Given the description of an element on the screen output the (x, y) to click on. 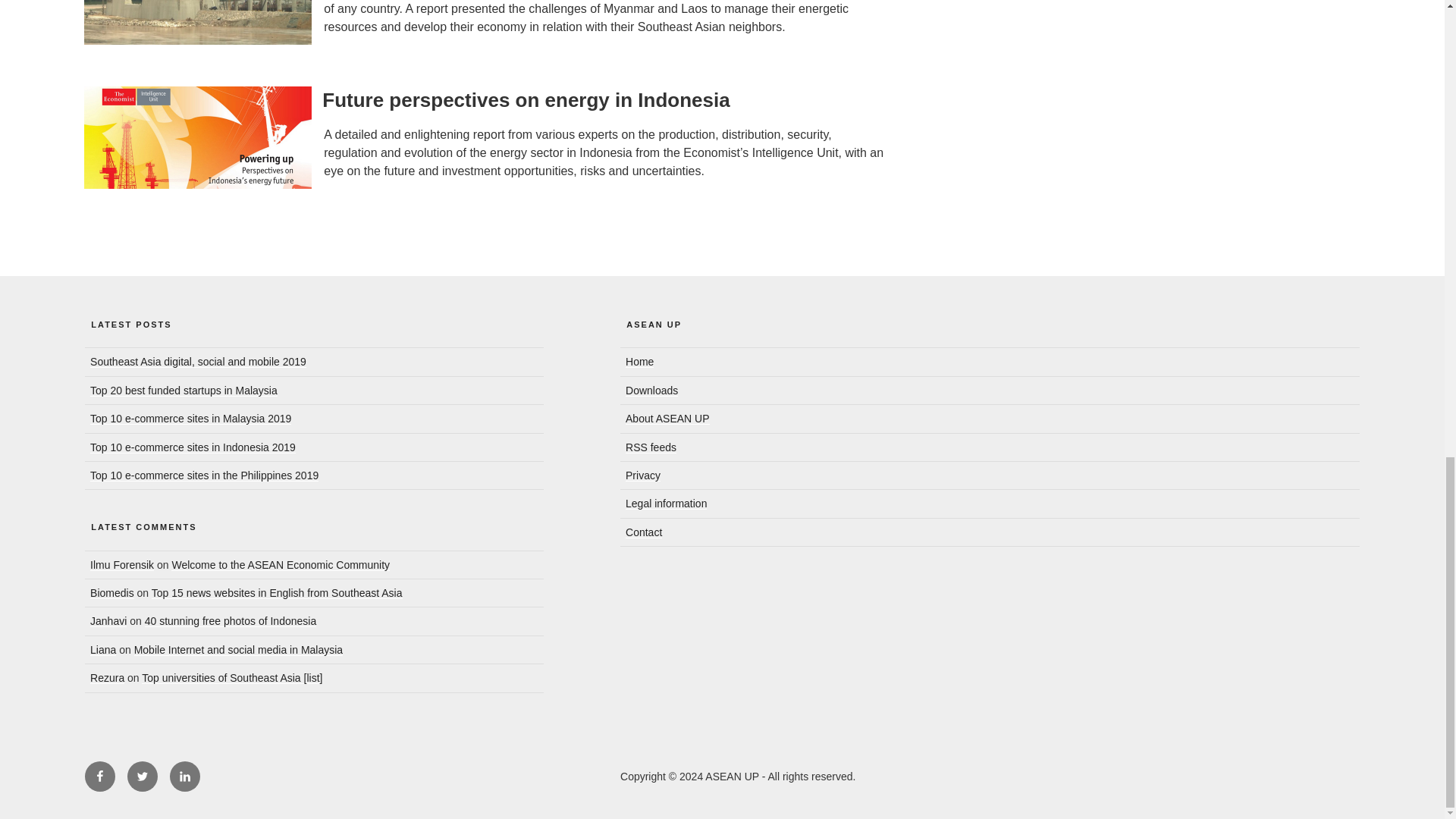
Future perspectives on energy in Indonesia (525, 99)
